Given the description of an element on the screen output the (x, y) to click on. 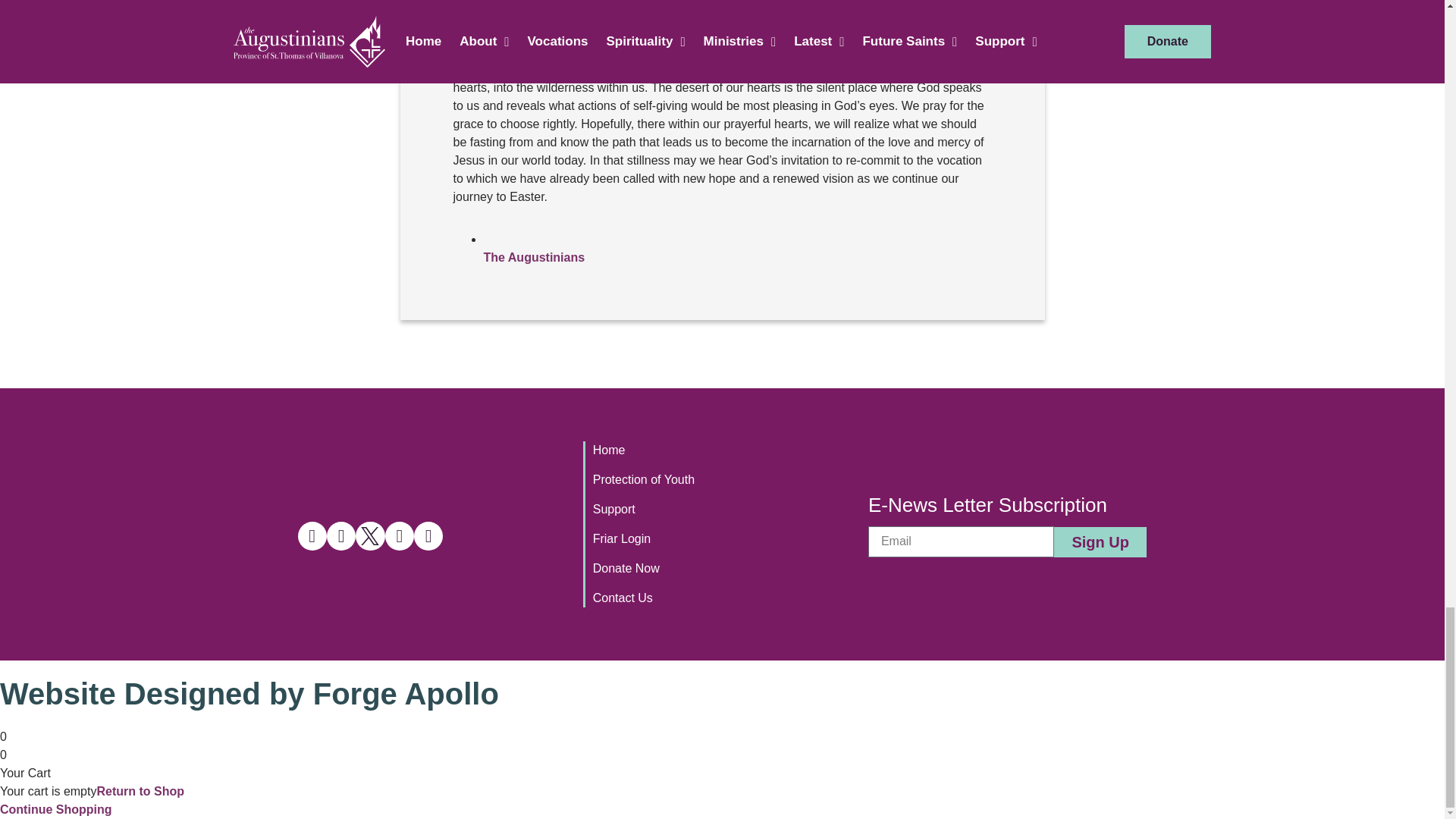
The Augustinians (534, 256)
